Given the description of an element on the screen output the (x, y) to click on. 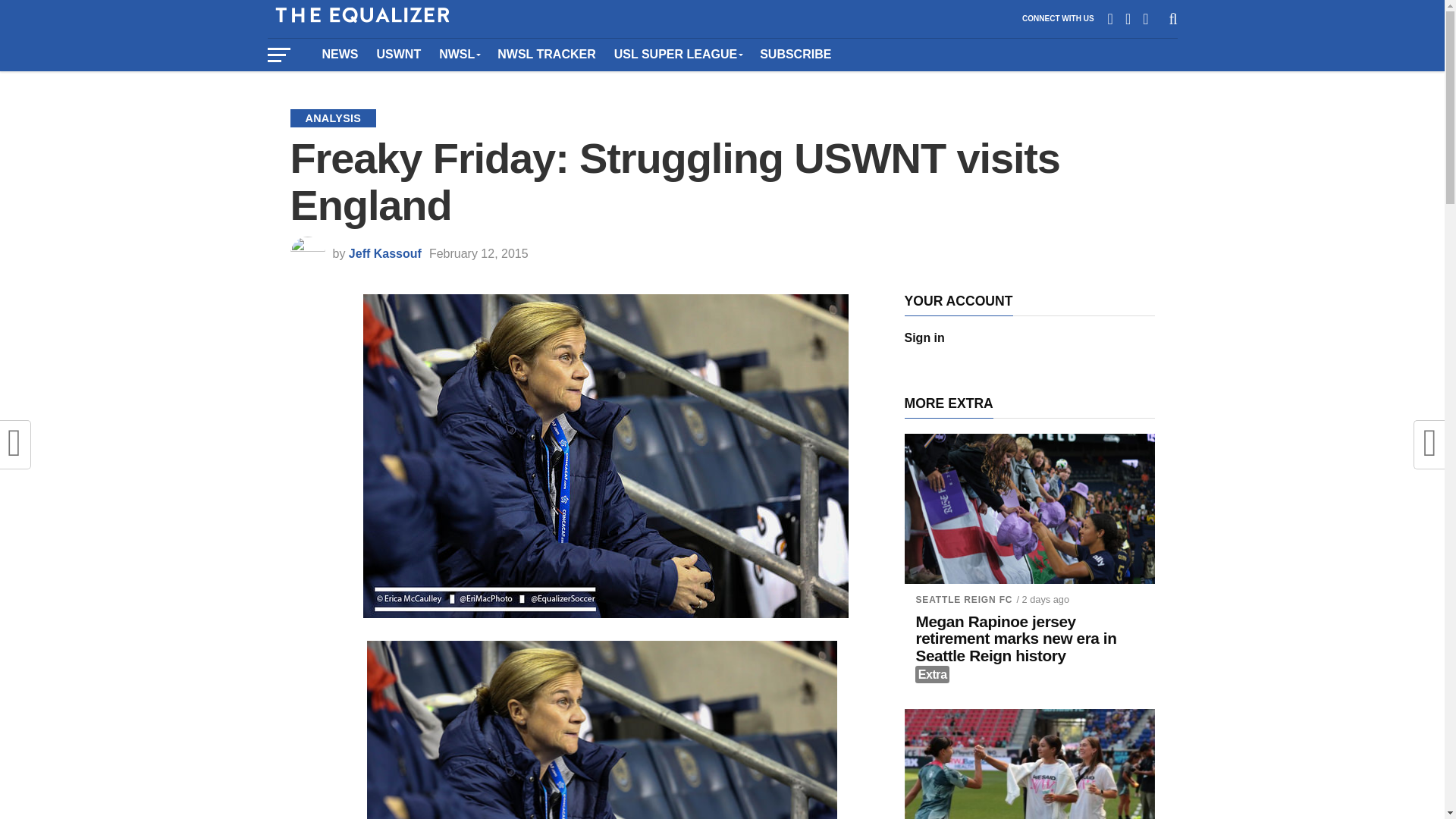
USWNT (397, 54)
NEWS (339, 54)
Posts by Jeff Kassouf (385, 253)
NWSL (458, 54)
